Given the description of an element on the screen output the (x, y) to click on. 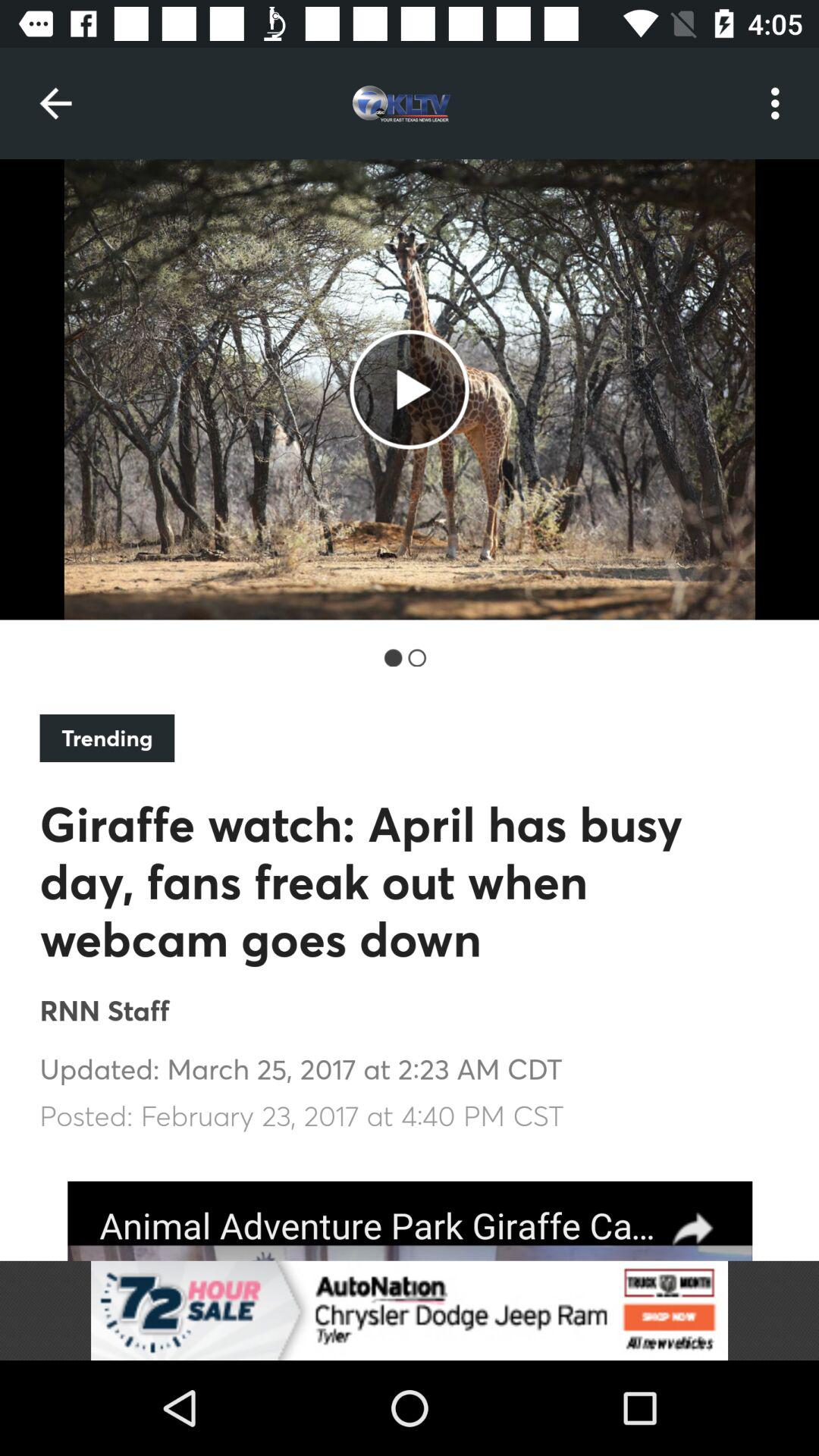
advertisement page (409, 1220)
